Given the description of an element on the screen output the (x, y) to click on. 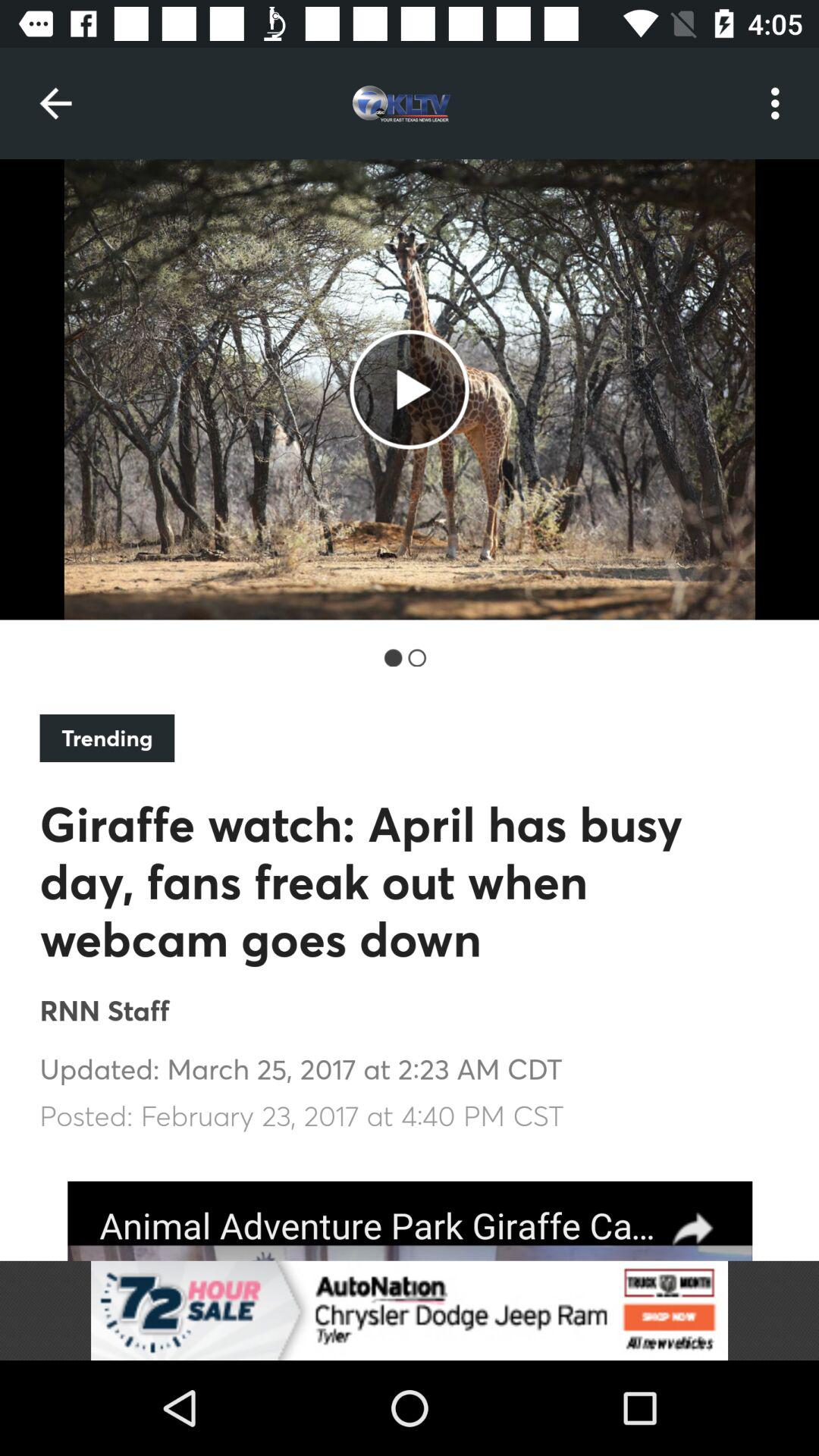
advertisement page (409, 1220)
